Given the description of an element on the screen output the (x, y) to click on. 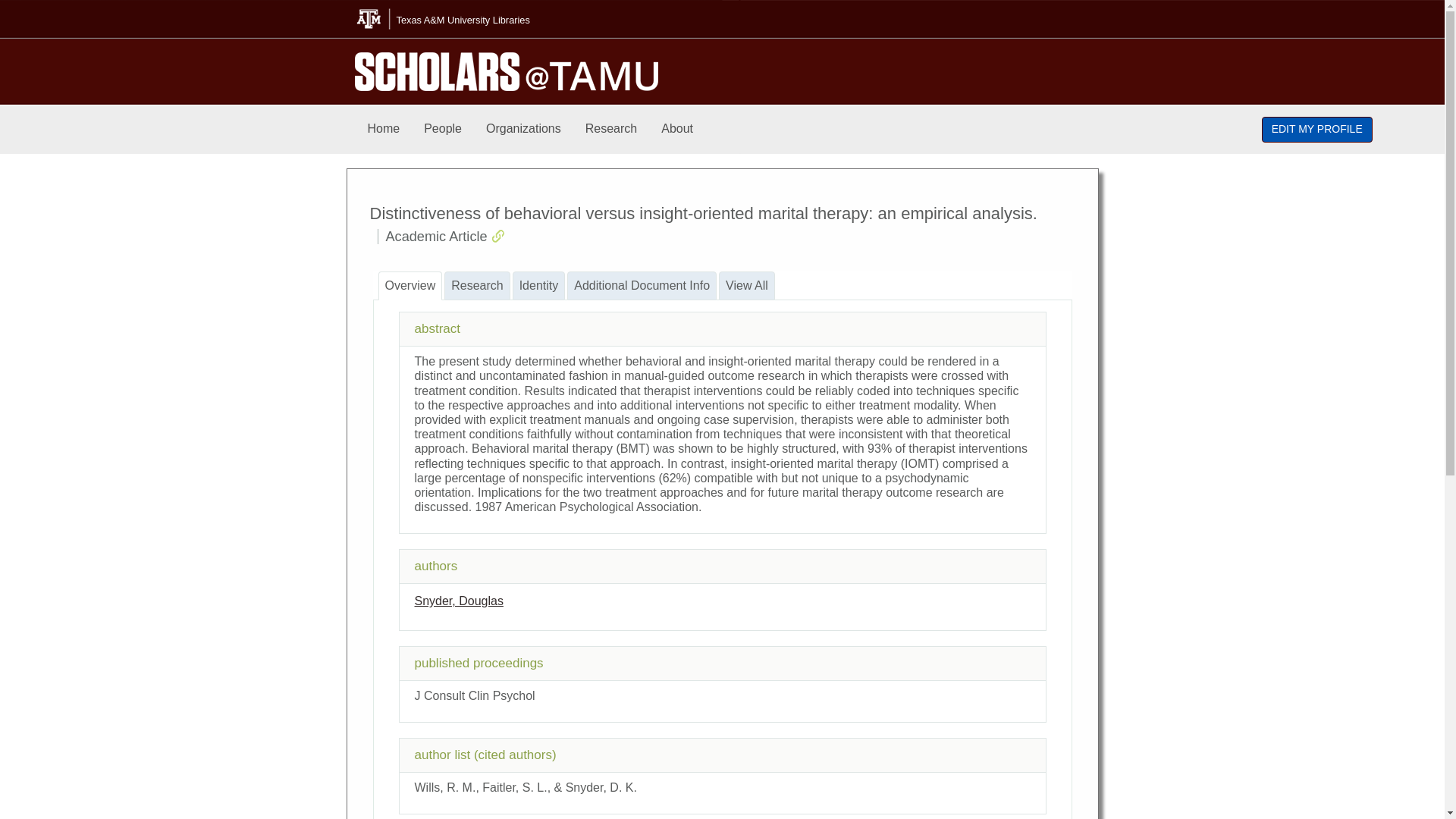
author name (457, 600)
Research menu item (611, 128)
Snyder, Douglas (457, 600)
Organizations (523, 128)
Home menu item (383, 128)
About menu item (676, 128)
EDIT MY PROFILE (1317, 129)
Home (383, 128)
Organizations menu item (523, 128)
About (676, 128)
